Given the description of an element on the screen output the (x, y) to click on. 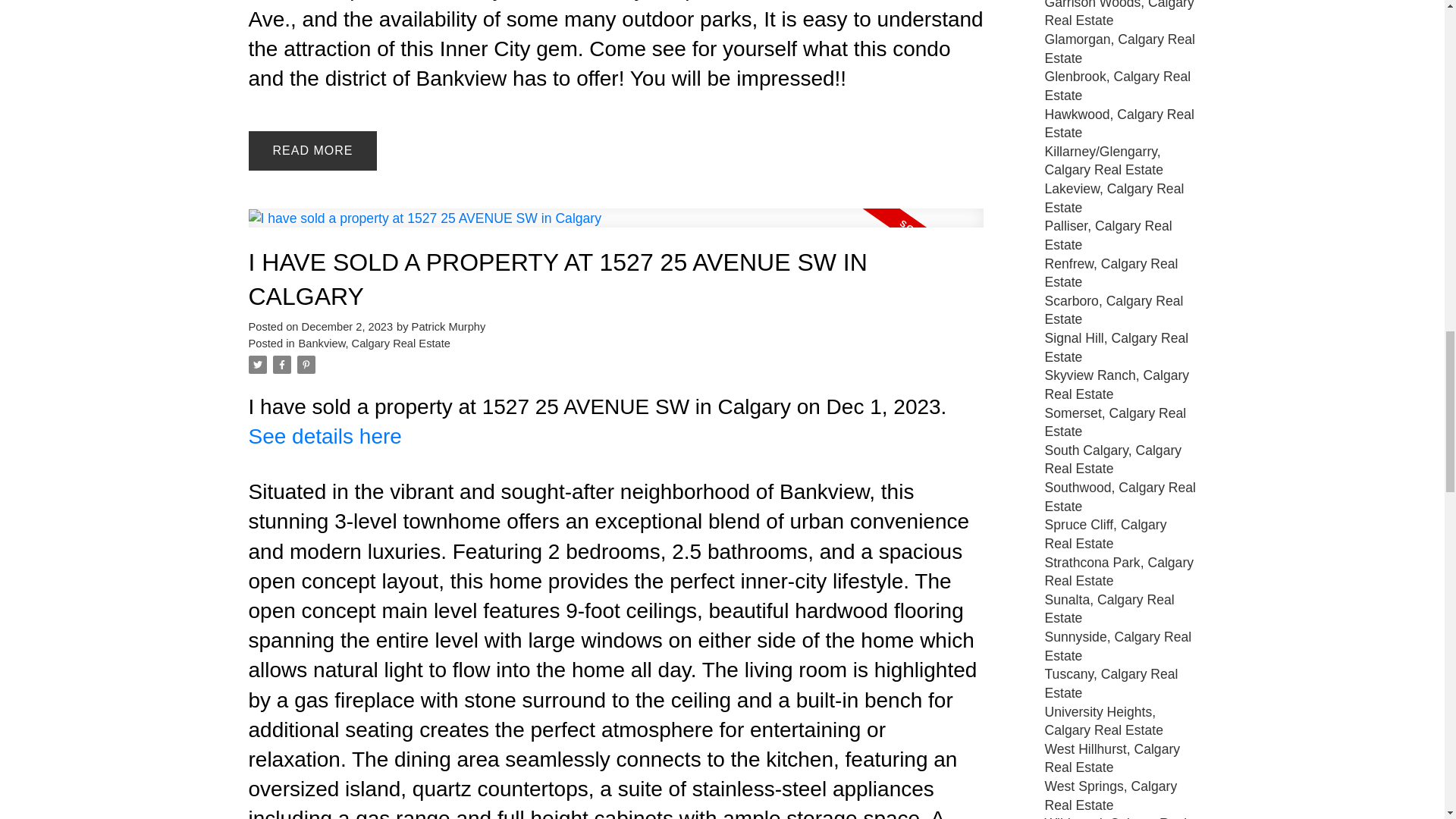
Read full post (616, 227)
